Given the description of an element on the screen output the (x, y) to click on. 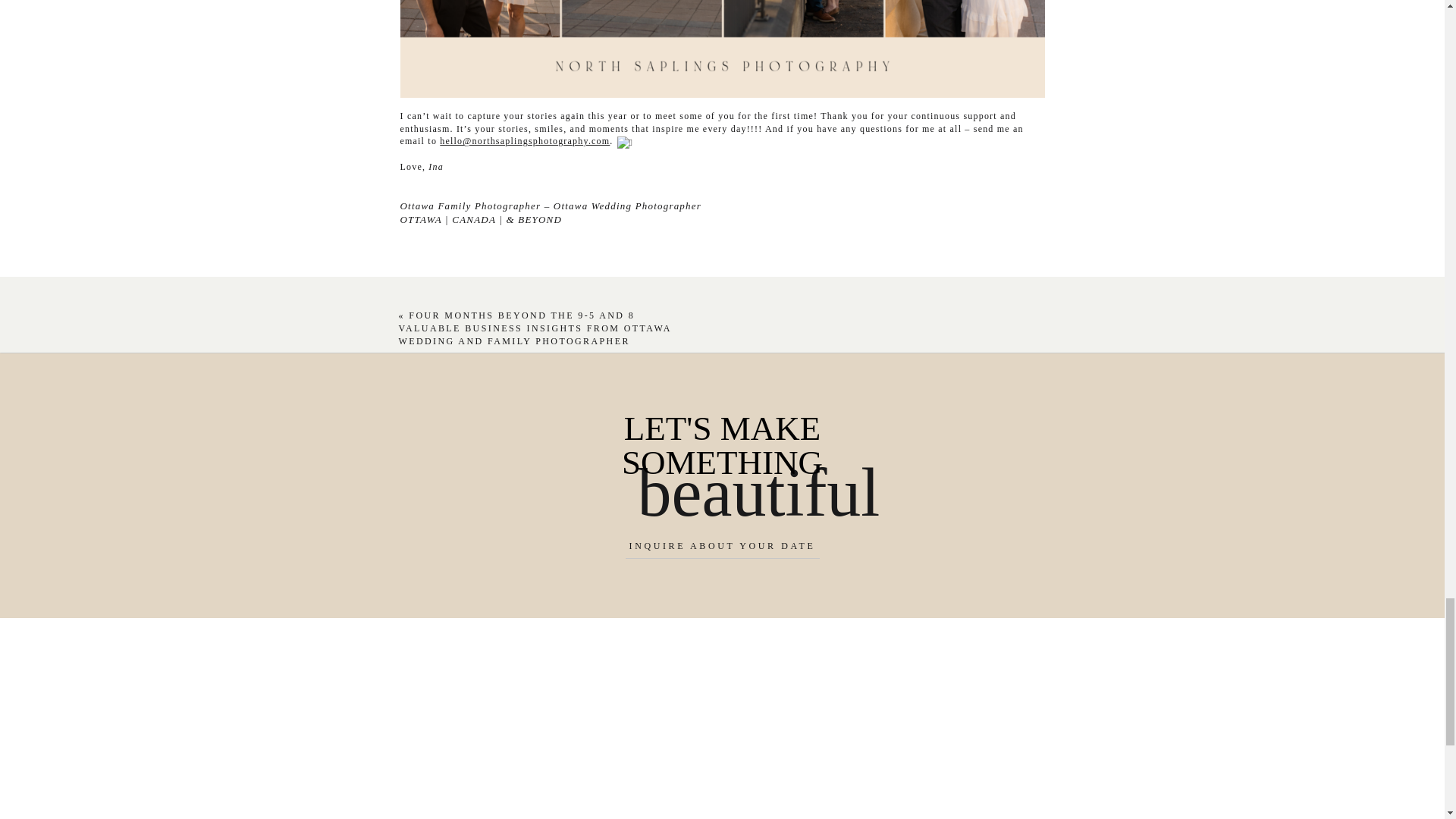
INQUIRE ABOUT YOUR DATE (722, 548)
LET'S MAKE SOMETHING (721, 445)
